Given the description of an element on the screen output the (x, y) to click on. 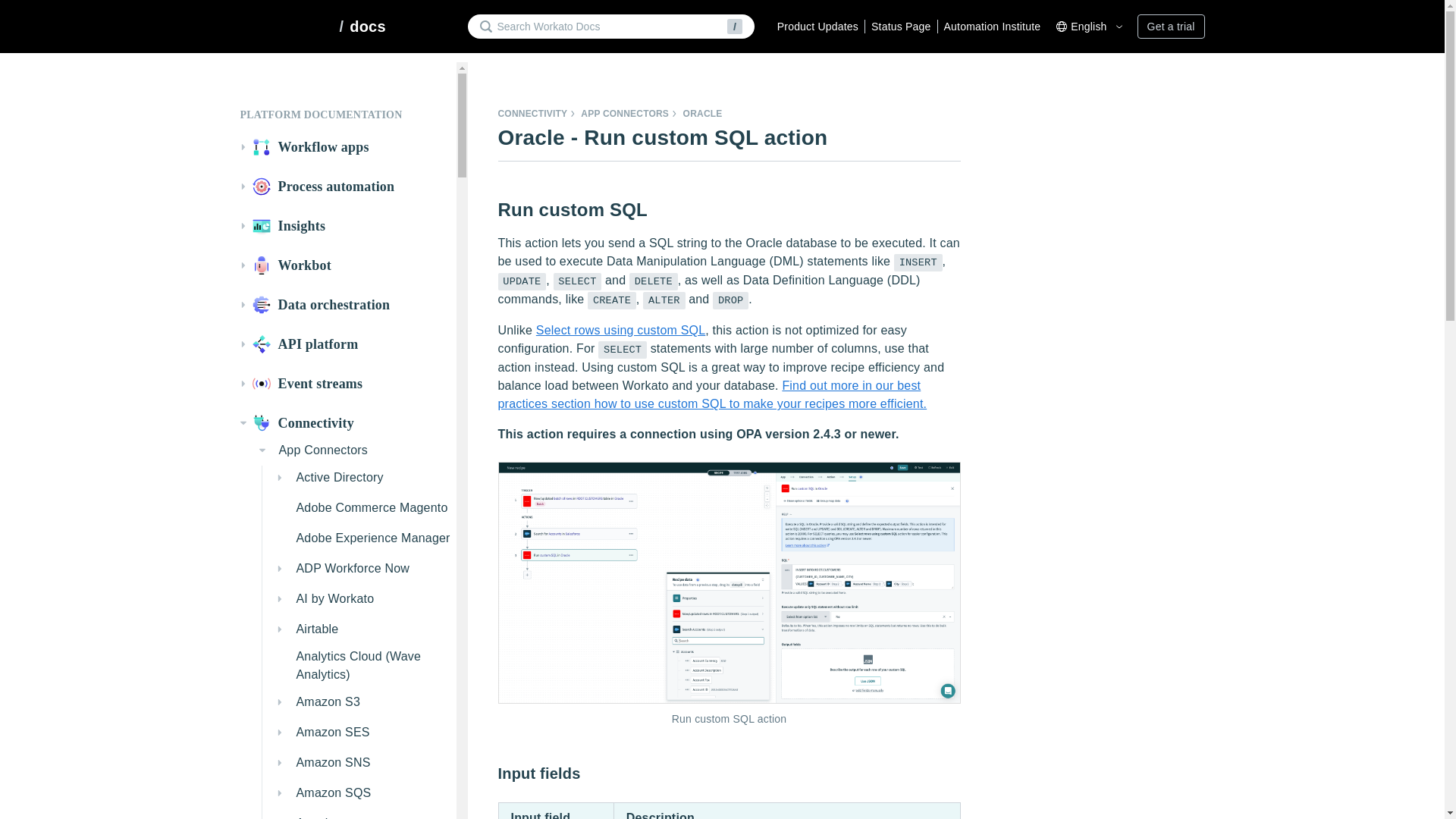
Amazon S3 (362, 702)
Amazon SQS (362, 793)
Status Page (897, 26)
Adobe Experience Manager (362, 538)
Get a trial (1171, 26)
ADP Workforce Now (362, 568)
AI by Workato (362, 598)
docs (367, 26)
Connectivity (343, 422)
Workflow apps (343, 146)
